Given the description of an element on the screen output the (x, y) to click on. 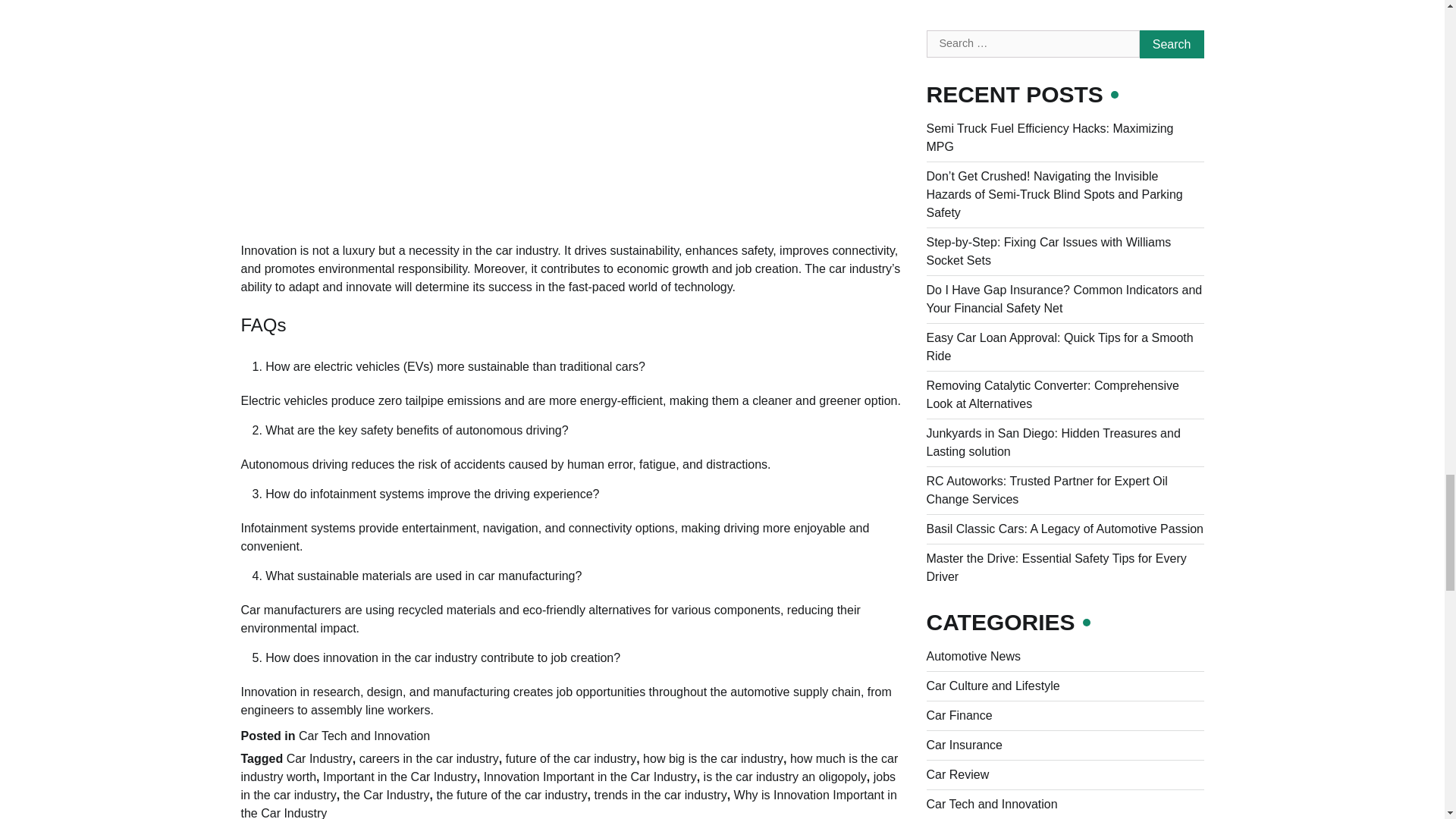
Car Industry (319, 758)
future of the car industry (571, 758)
careers in the car industry (429, 758)
Car Tech and Innovation (363, 735)
